Given the description of an element on the screen output the (x, y) to click on. 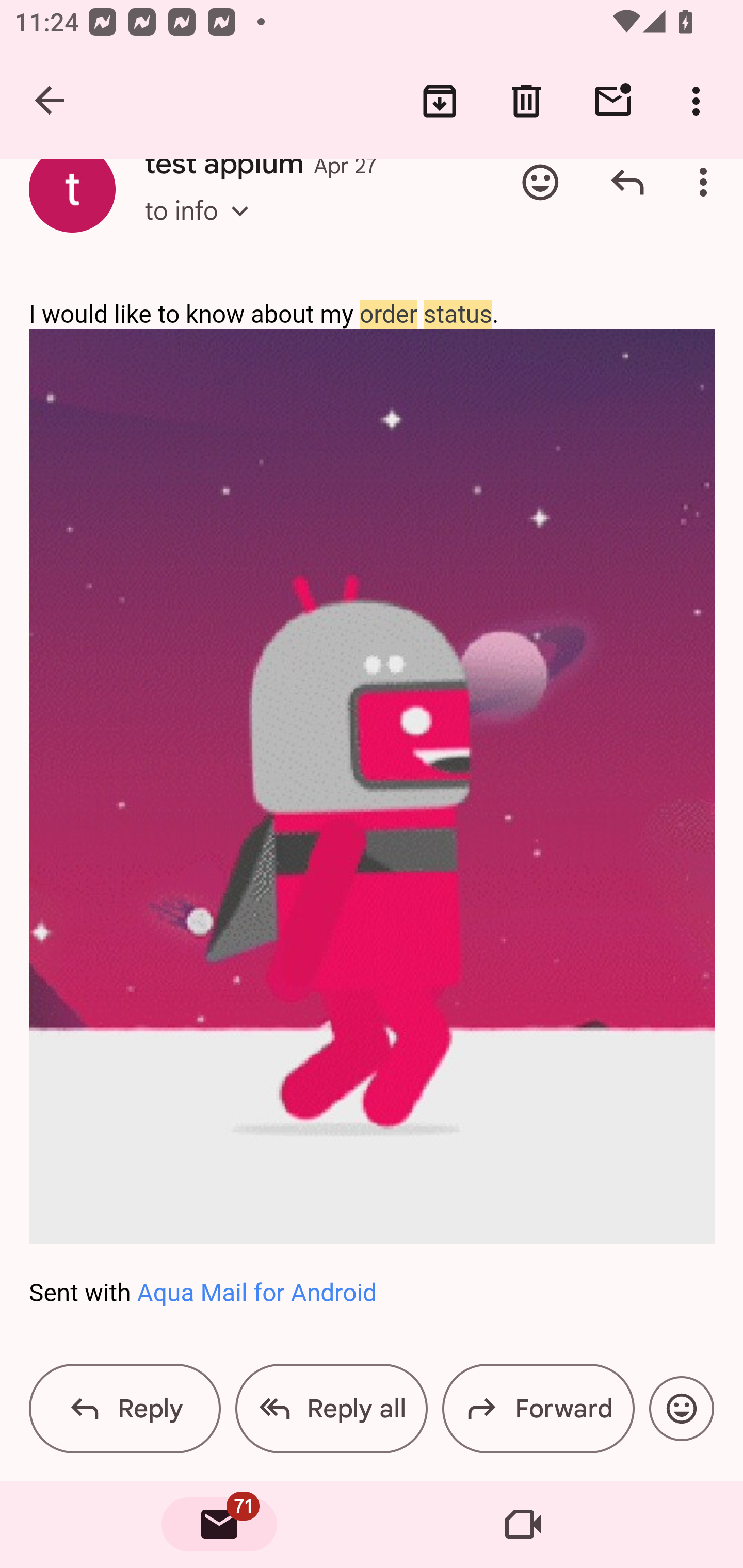
Navigate up (50, 101)
Archive (439, 101)
Delete (525, 101)
Mark unread (612, 101)
More options (699, 101)
Add emoji reaction (540, 181)
Reply (626, 181)
More options (706, 181)
Show contact information for test appium (71, 188)
From (279, 217)
to info (202, 228)
Aqua Mail for Android (256, 1293)
Reply (124, 1408)
Reply all (331, 1408)
Forward (538, 1408)
Add emoji reaction (681, 1408)
Meet (523, 1524)
